Given the description of an element on the screen output the (x, y) to click on. 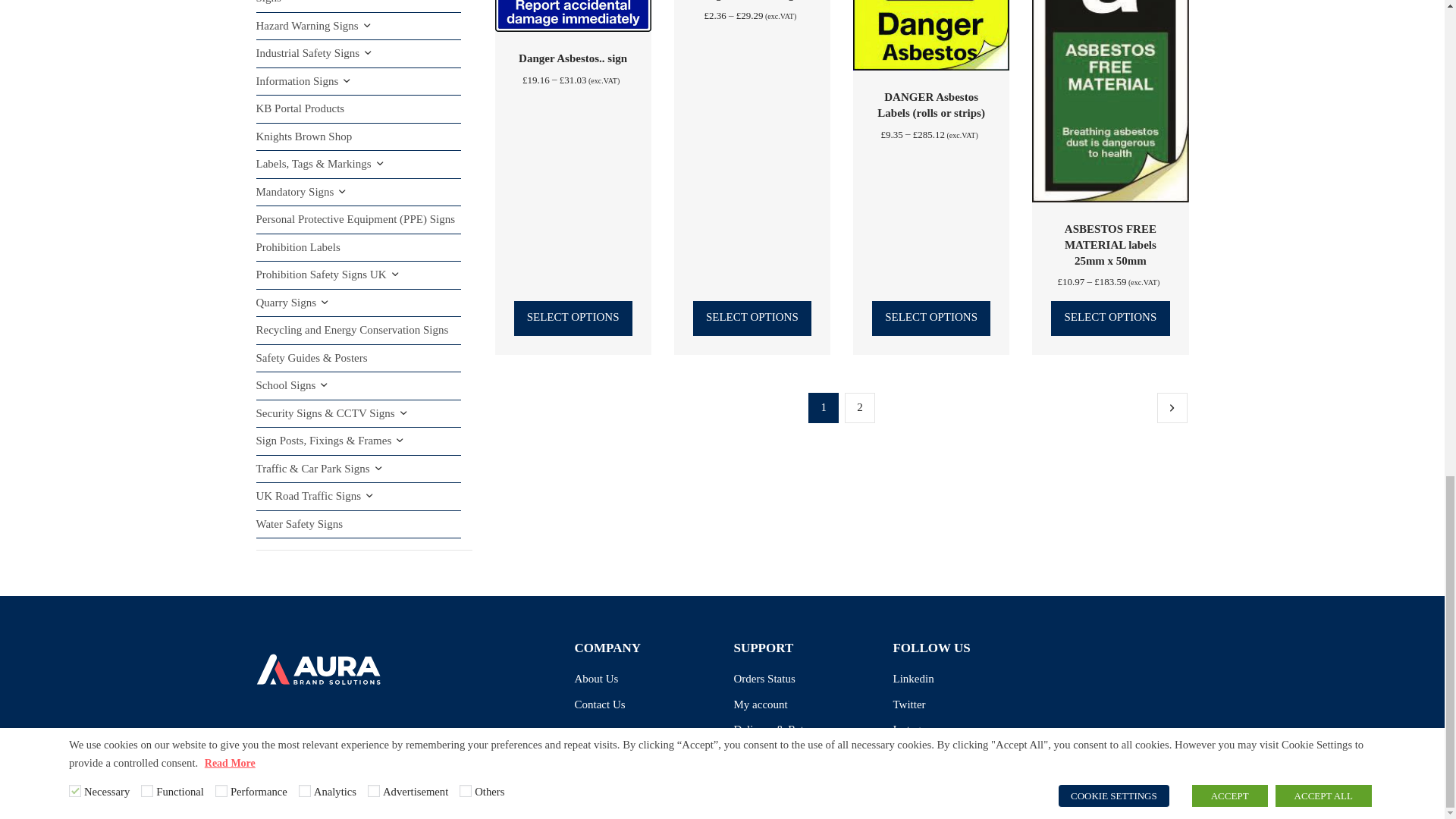
Danger Asbestos.. sign (572, 58)
ASBESTOS FREE MATERIAL labels 25mm x 50mm (1110, 244)
